Given the description of an element on the screen output the (x, y) to click on. 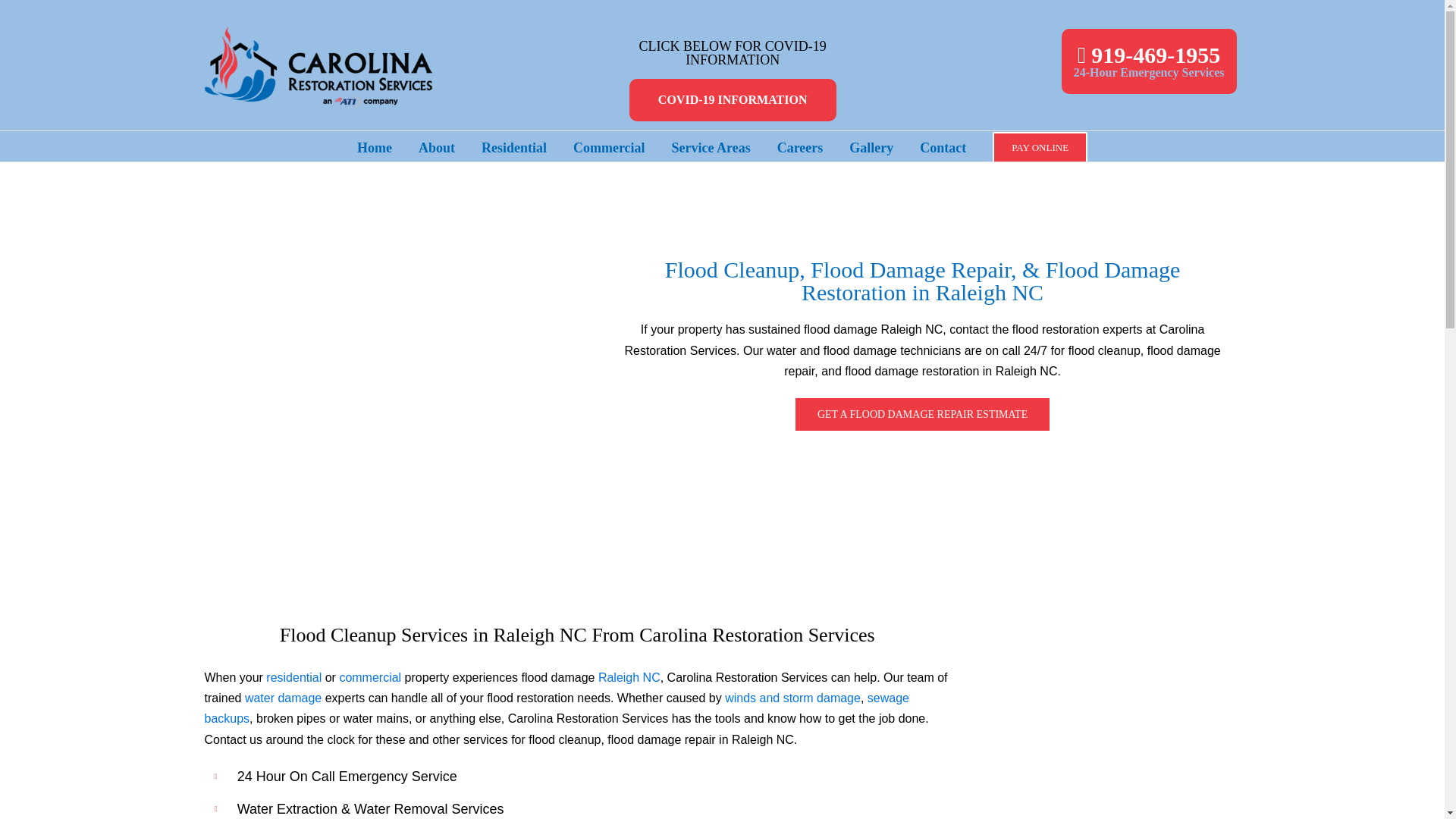
Flood Cleanup in Raleigh NC 3 (799, 554)
Service Areas (711, 146)
About (436, 146)
COVID-19 INFORMATION (731, 99)
Flood Cleanup in Raleigh NC 4 (955, 554)
Commercial (1148, 61)
Flood Cleanup in Raleigh NC 2 (609, 146)
Flood Cleanup in Raleigh NC 1 (643, 554)
Home (488, 554)
